Given the description of an element on the screen output the (x, y) to click on. 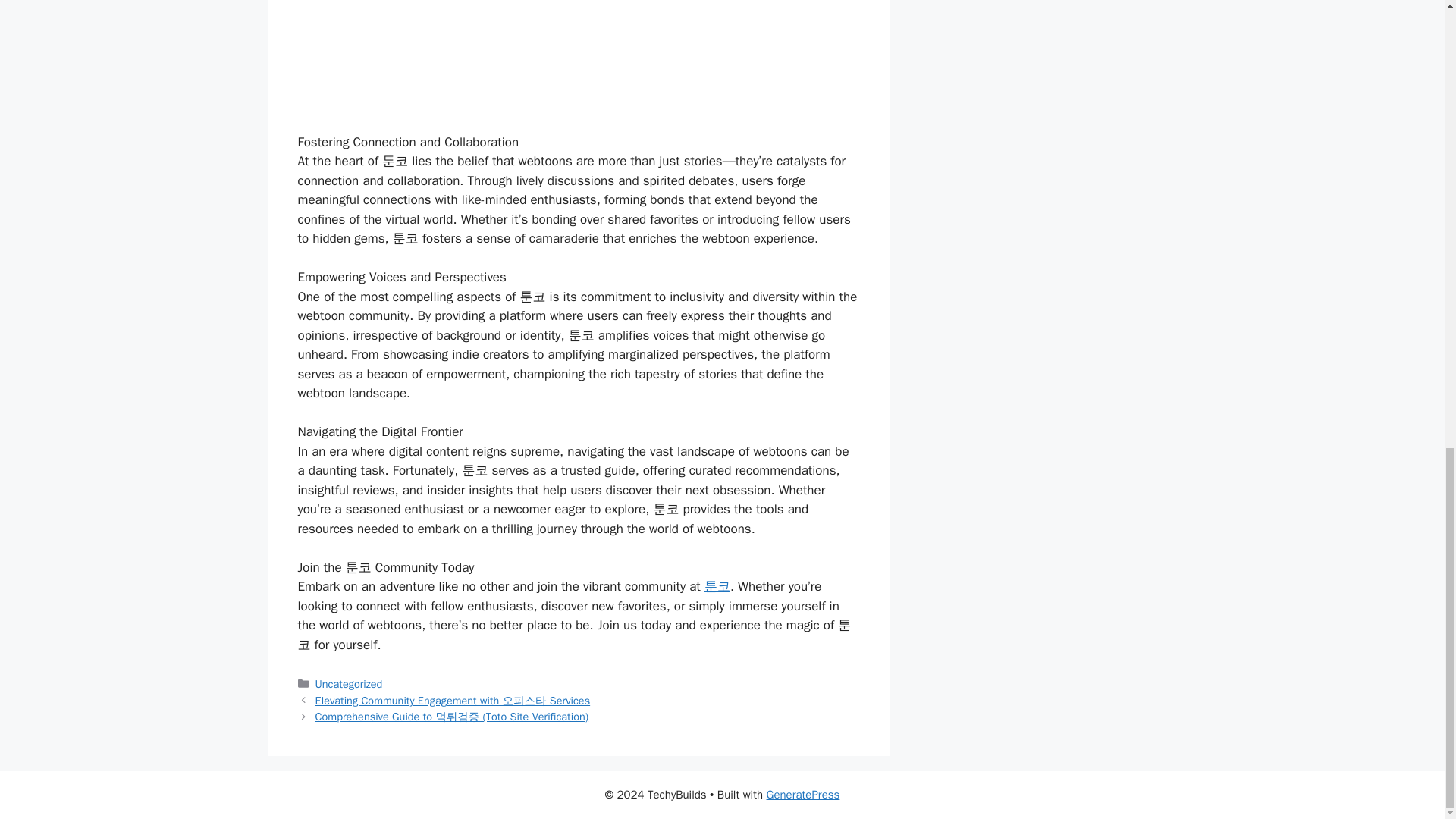
Uncategorized (348, 684)
GeneratePress (803, 794)
